Given the description of an element on the screen output the (x, y) to click on. 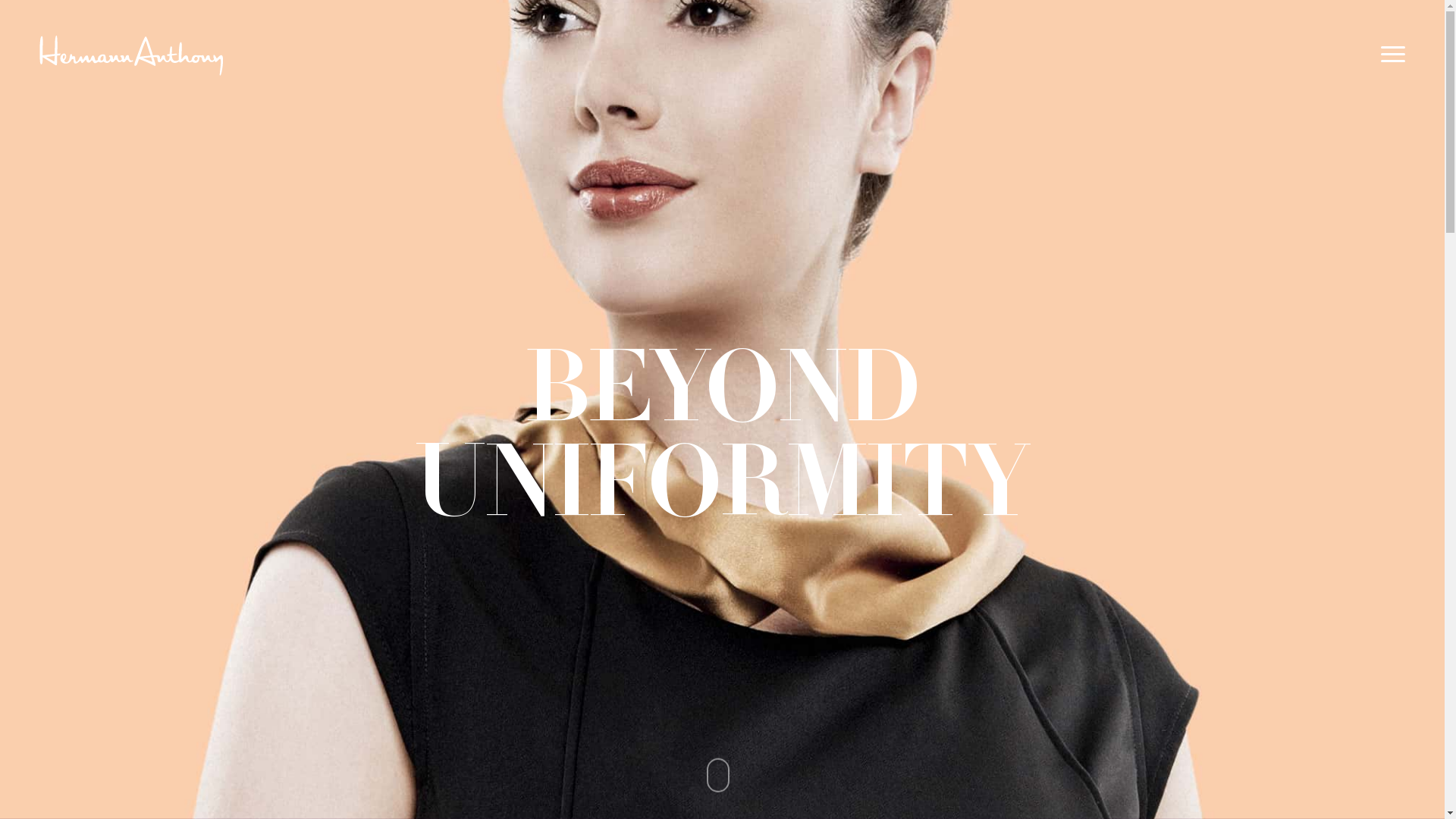
Menu Element type: text (1393, 54)
